Given the description of an element on the screen output the (x, y) to click on. 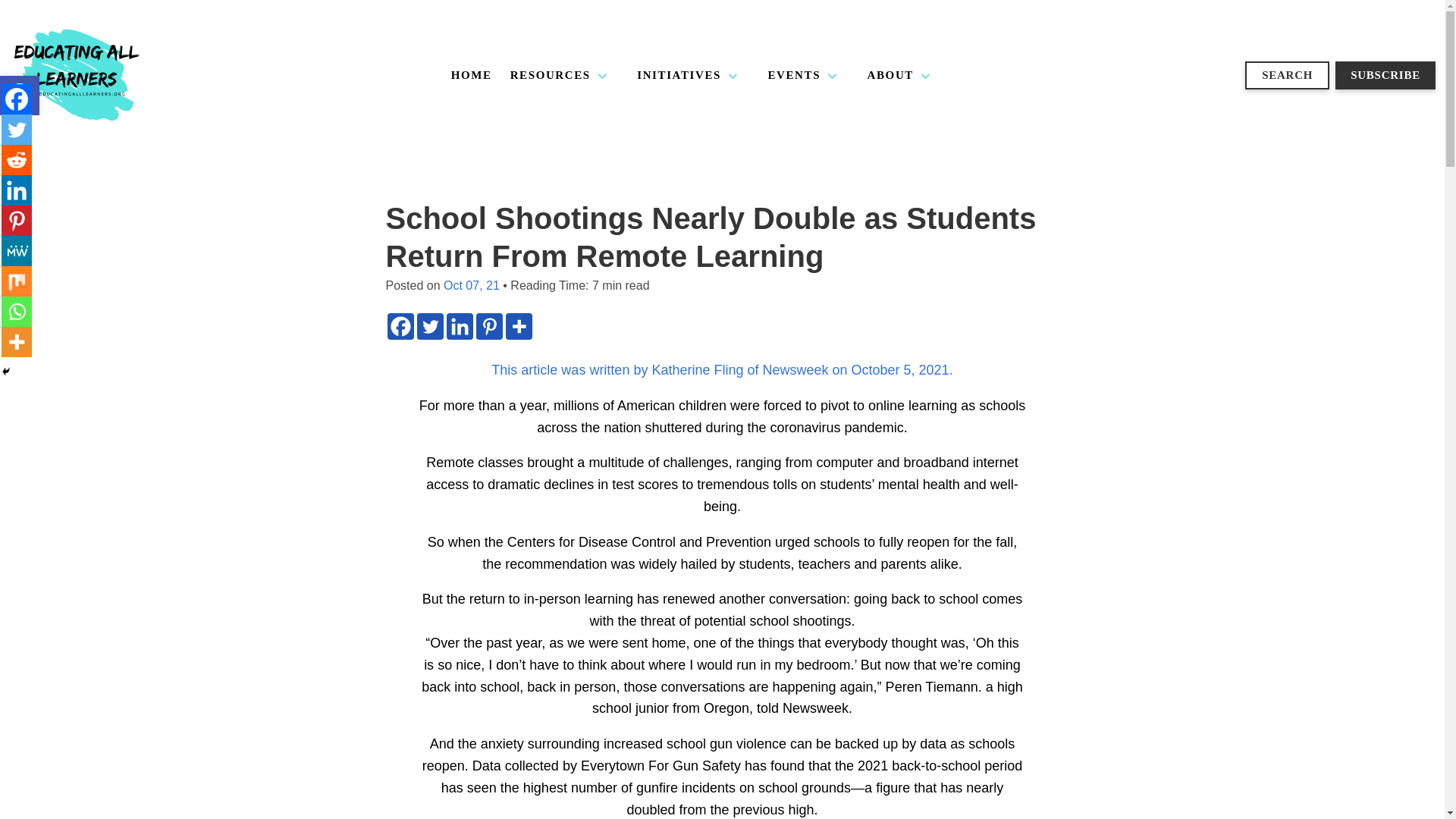
Hide (5, 371)
Linkedin (458, 325)
Pinterest (489, 325)
Accessibility Tools (19, 95)
Facebook (400, 325)
Oct 07, 21 (471, 285)
INITIATIVES (688, 75)
Reddit (16, 159)
EVENTS (803, 75)
Pinterest (16, 220)
Twitter (430, 325)
More (16, 341)
